Given the description of an element on the screen output the (x, y) to click on. 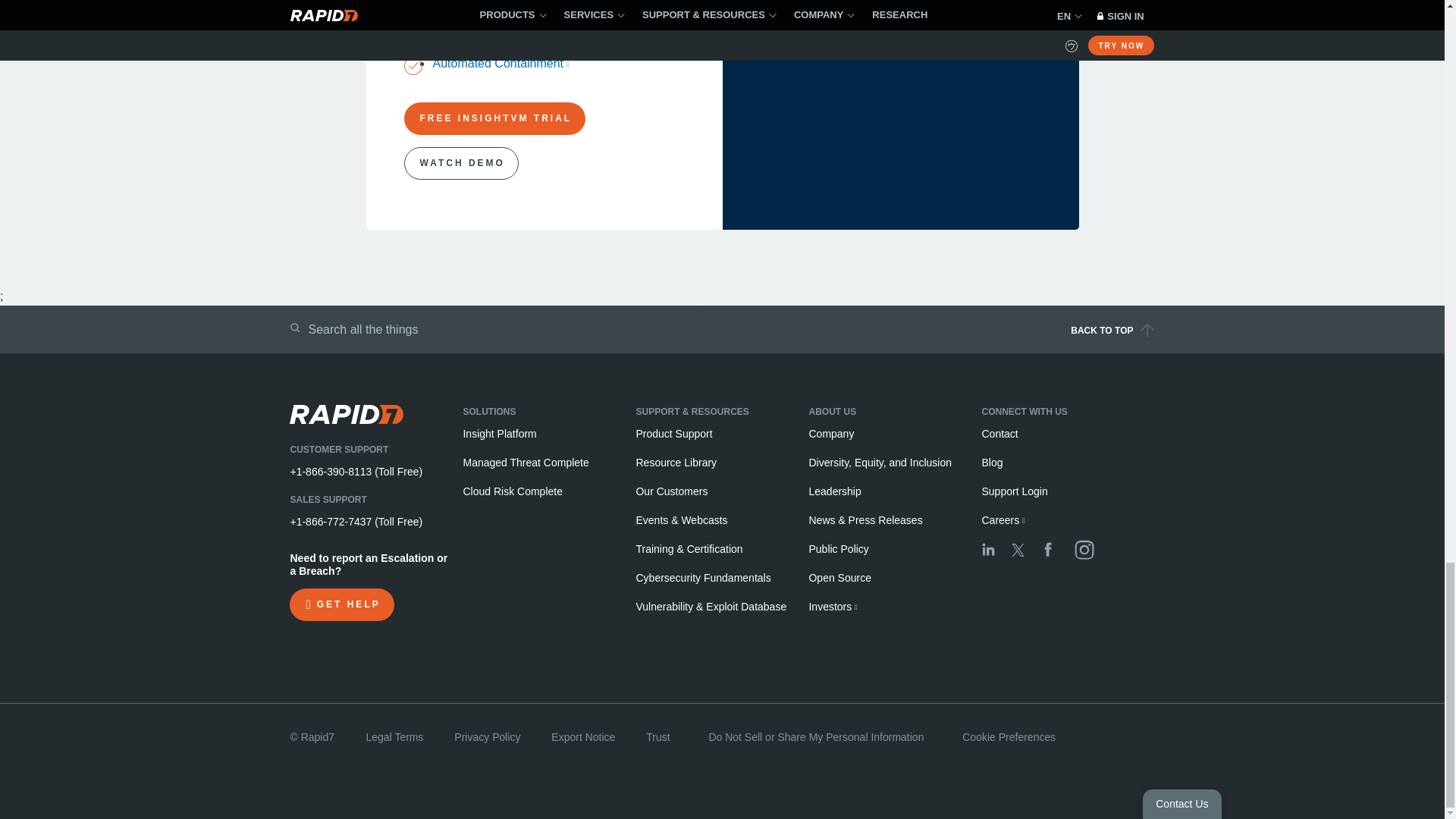
BACK TO TOP (949, 335)
Submit Search (294, 327)
Submit Search (294, 327)
